Given the description of an element on the screen output the (x, y) to click on. 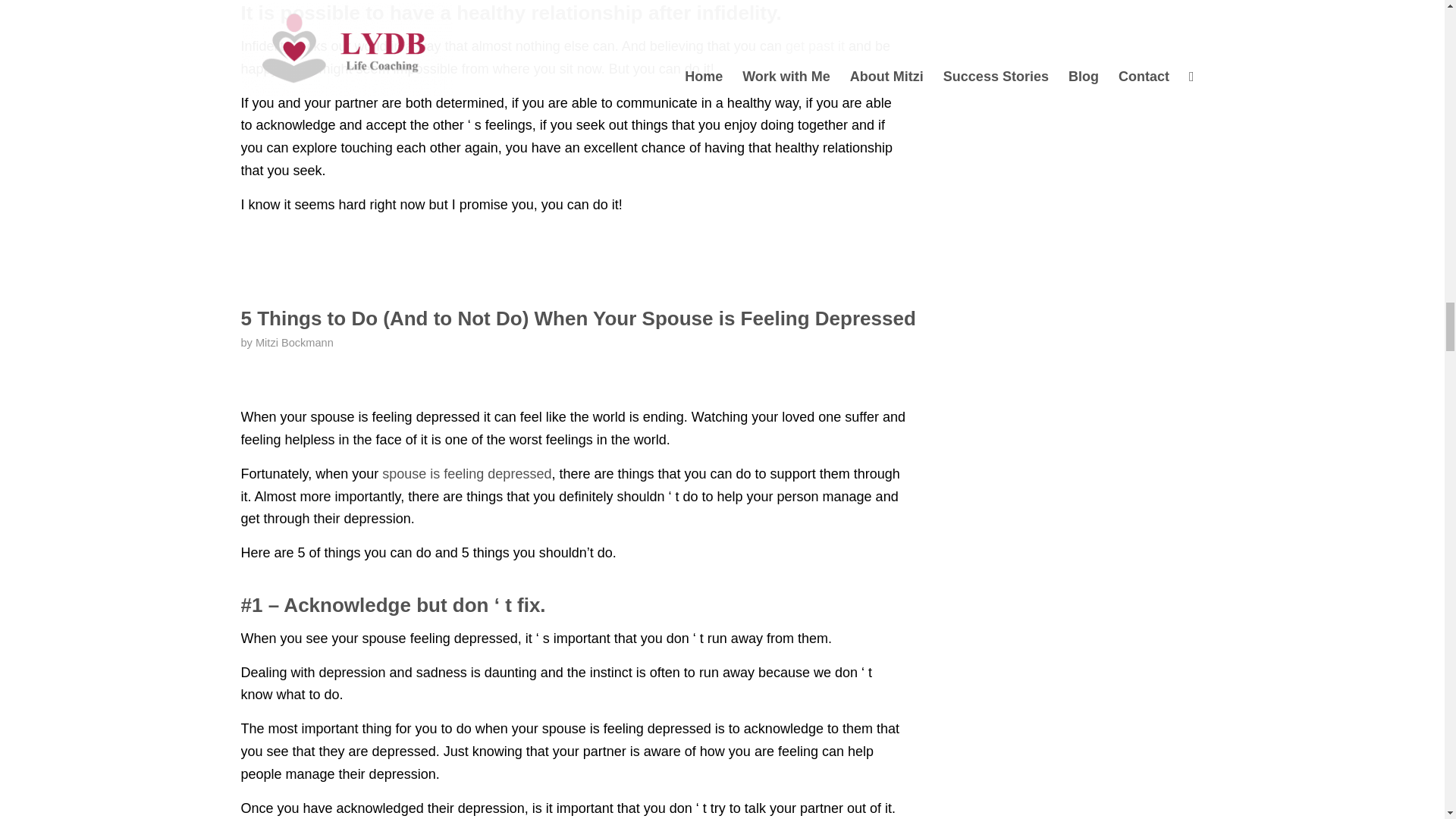
spouse is feeling depressed (466, 473)
Posts by Mitzi Bockmann (294, 342)
get past it (815, 46)
Mitzi Bockmann (294, 342)
